Given the description of an element on the screen output the (x, y) to click on. 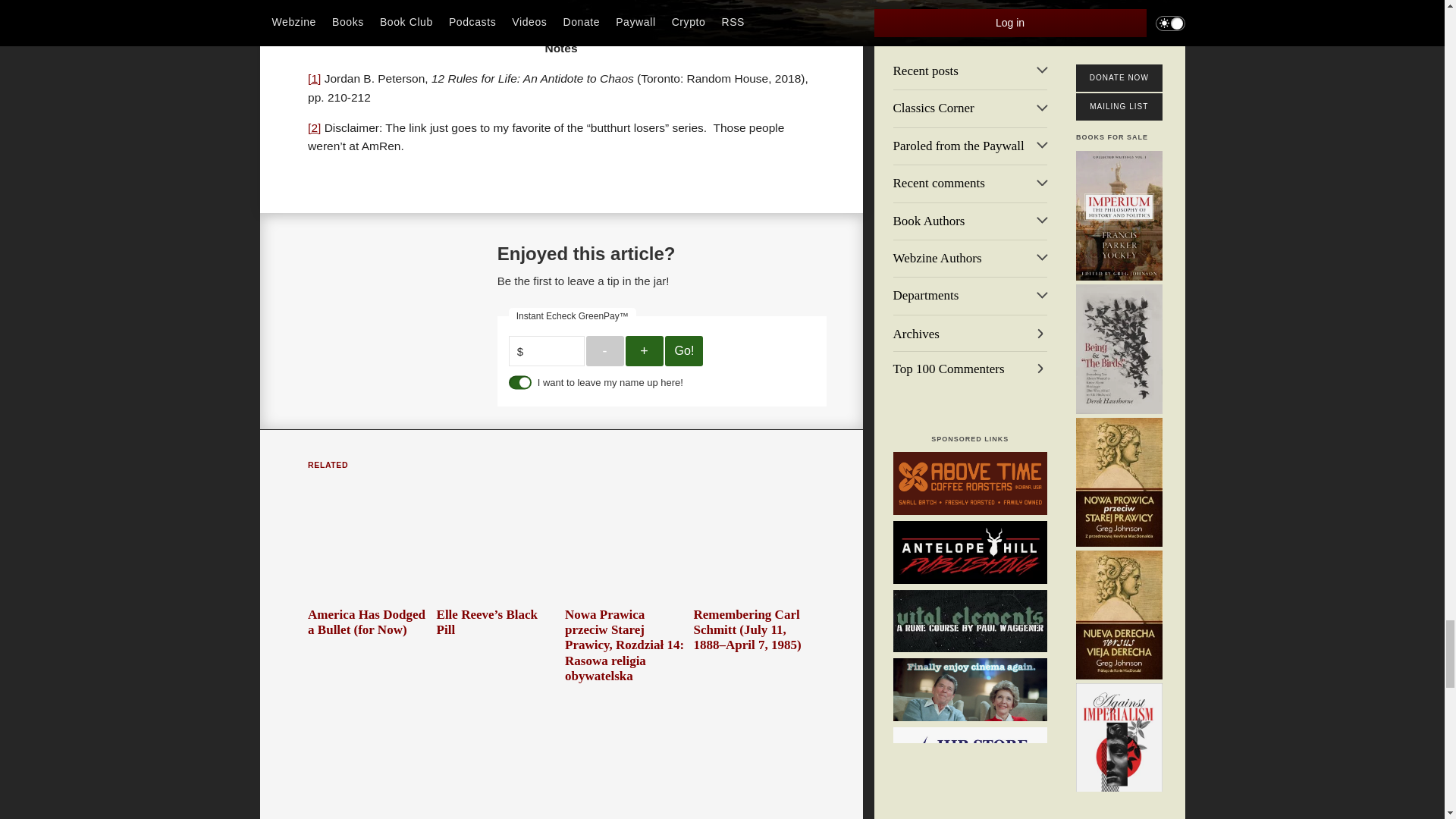
Go! (684, 350)
